Given the description of an element on the screen output the (x, y) to click on. 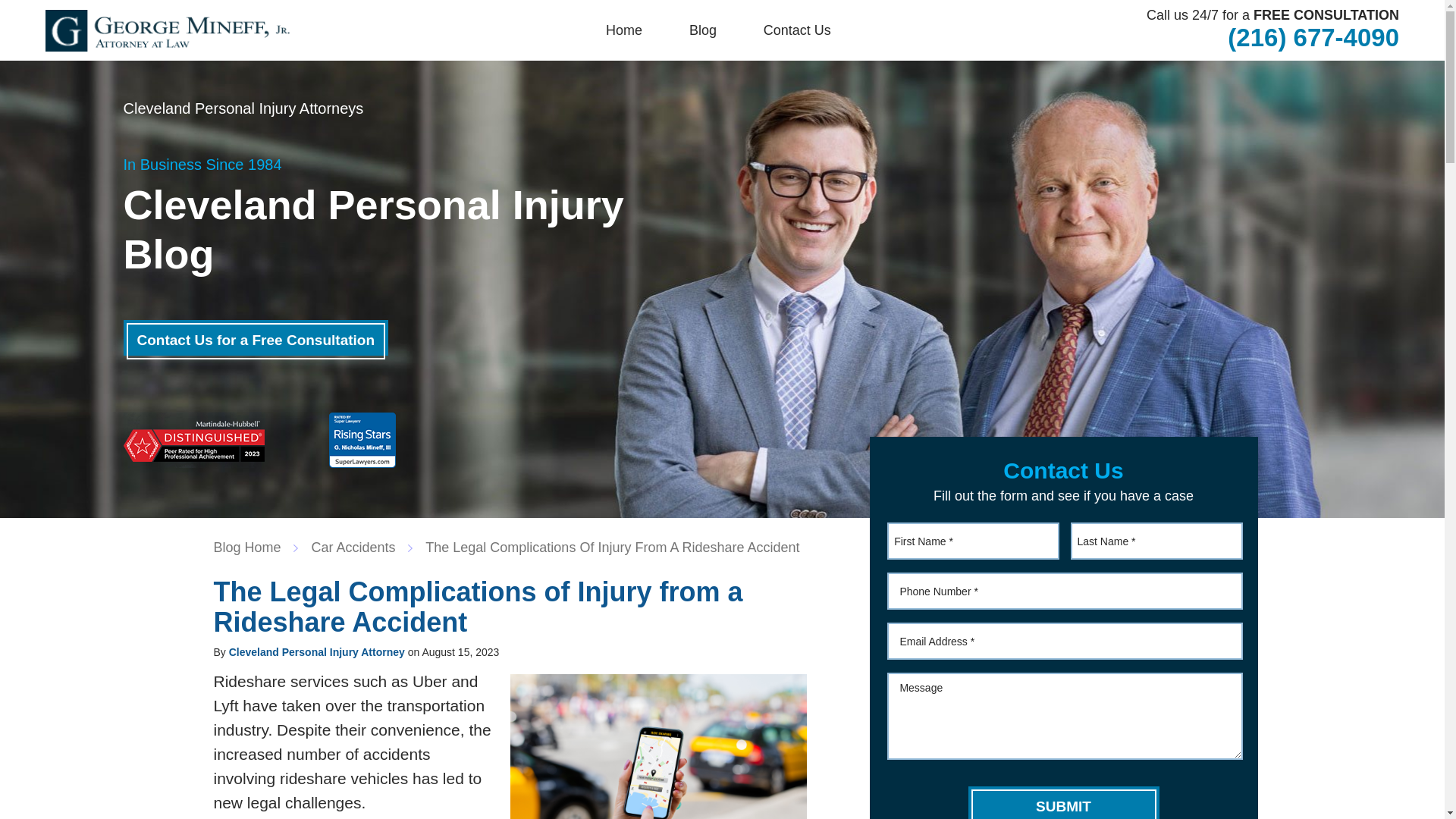
Cleveland Personal Injury Attorney (316, 652)
Blog Home (254, 547)
Submit (1063, 802)
Blog (703, 30)
Contact Us for a Free Consultation (255, 337)
Car Accidents (361, 547)
George Mineff, Jr., Attorney at Law (167, 30)
Home (624, 30)
Submit (1063, 802)
Contact Us (796, 30)
